Given the description of an element on the screen output the (x, y) to click on. 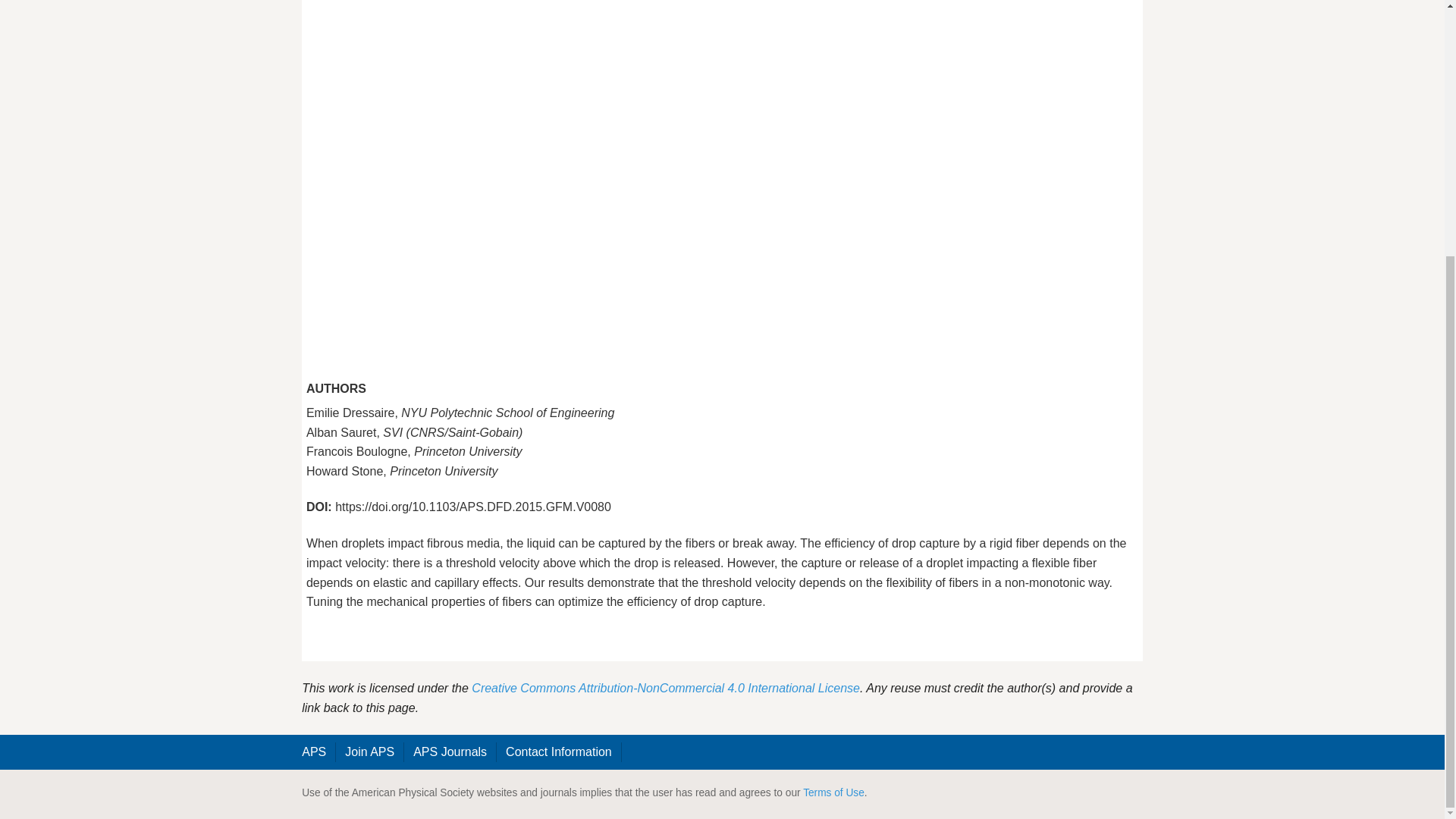
Join APS (369, 752)
Terms of Use (833, 792)
APS Journals (449, 752)
APS (313, 752)
Contact Information (558, 752)
